Given the description of an element on the screen output the (x, y) to click on. 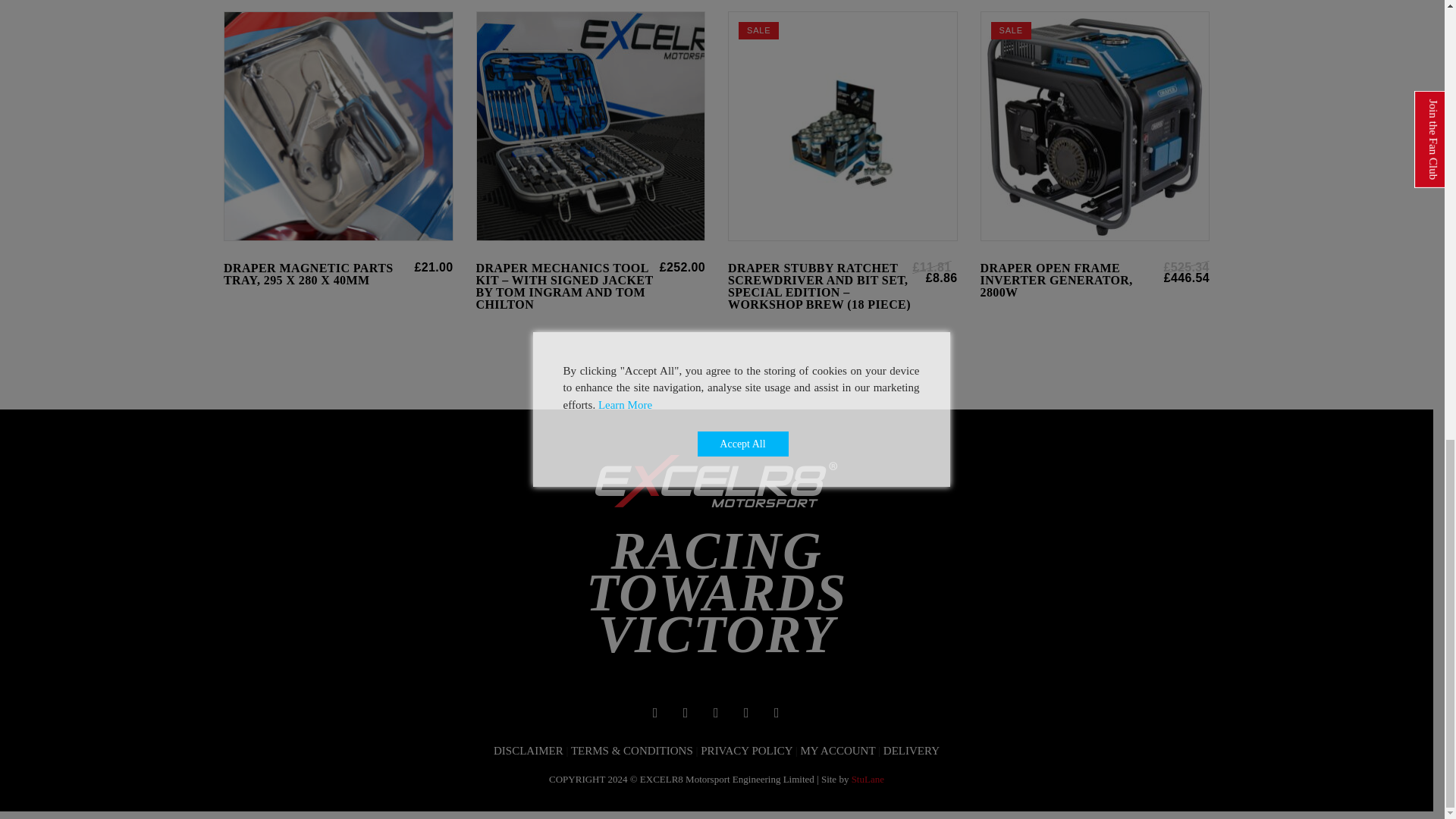
X (746, 711)
Instagram (716, 711)
Facebook (655, 711)
